Given the description of an element on the screen output the (x, y) to click on. 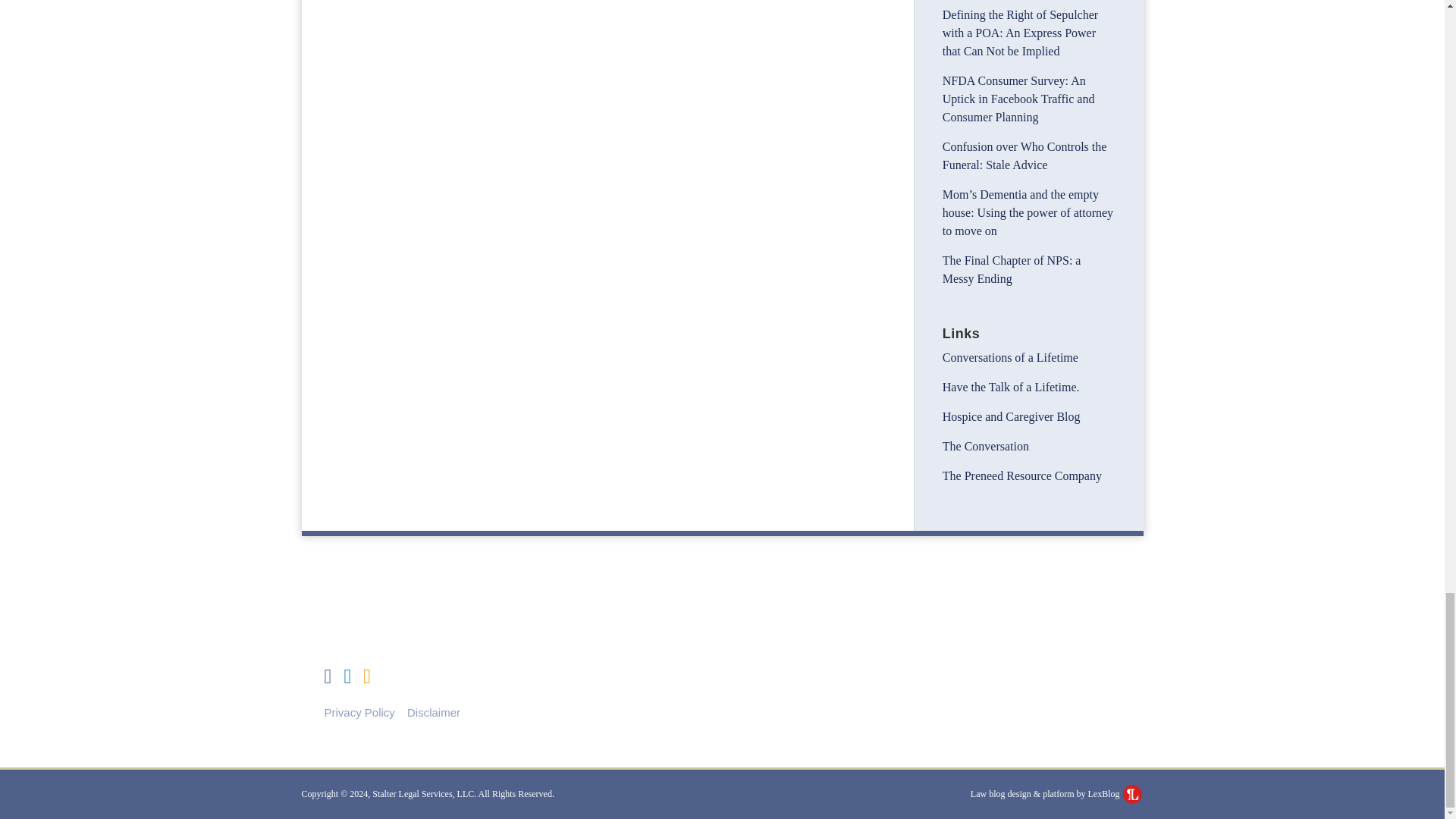
LexBlog Logo (1131, 793)
